Given the description of an element on the screen output the (x, y) to click on. 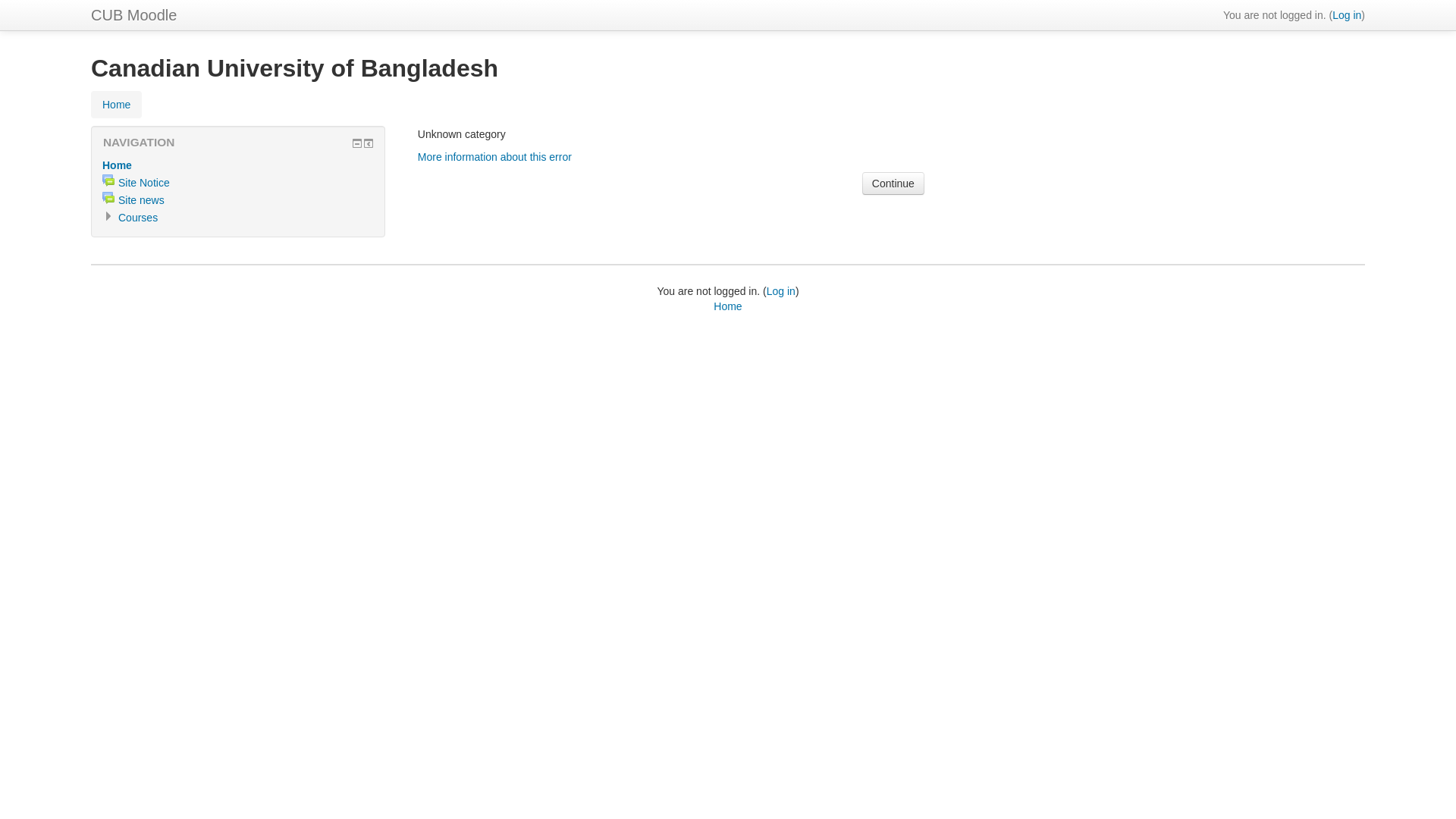
Home Element type: text (116, 104)
Continue Element type: text (893, 183)
Site news Element type: text (141, 200)
Forum Element type: hover (108, 197)
CUB Moodle Element type: text (133, 15)
Site Notice Element type: text (143, 182)
Dock Navigation block Element type: hover (368, 142)
Hide Navigation block Element type: hover (356, 142)
Forum Element type: hover (108, 180)
Courses Element type: text (137, 217)
Log in Element type: text (780, 291)
Home Element type: text (116, 165)
More information about this error Element type: text (494, 156)
Log in Element type: text (1346, 15)
Home Element type: text (727, 306)
